Given the description of an element on the screen output the (x, y) to click on. 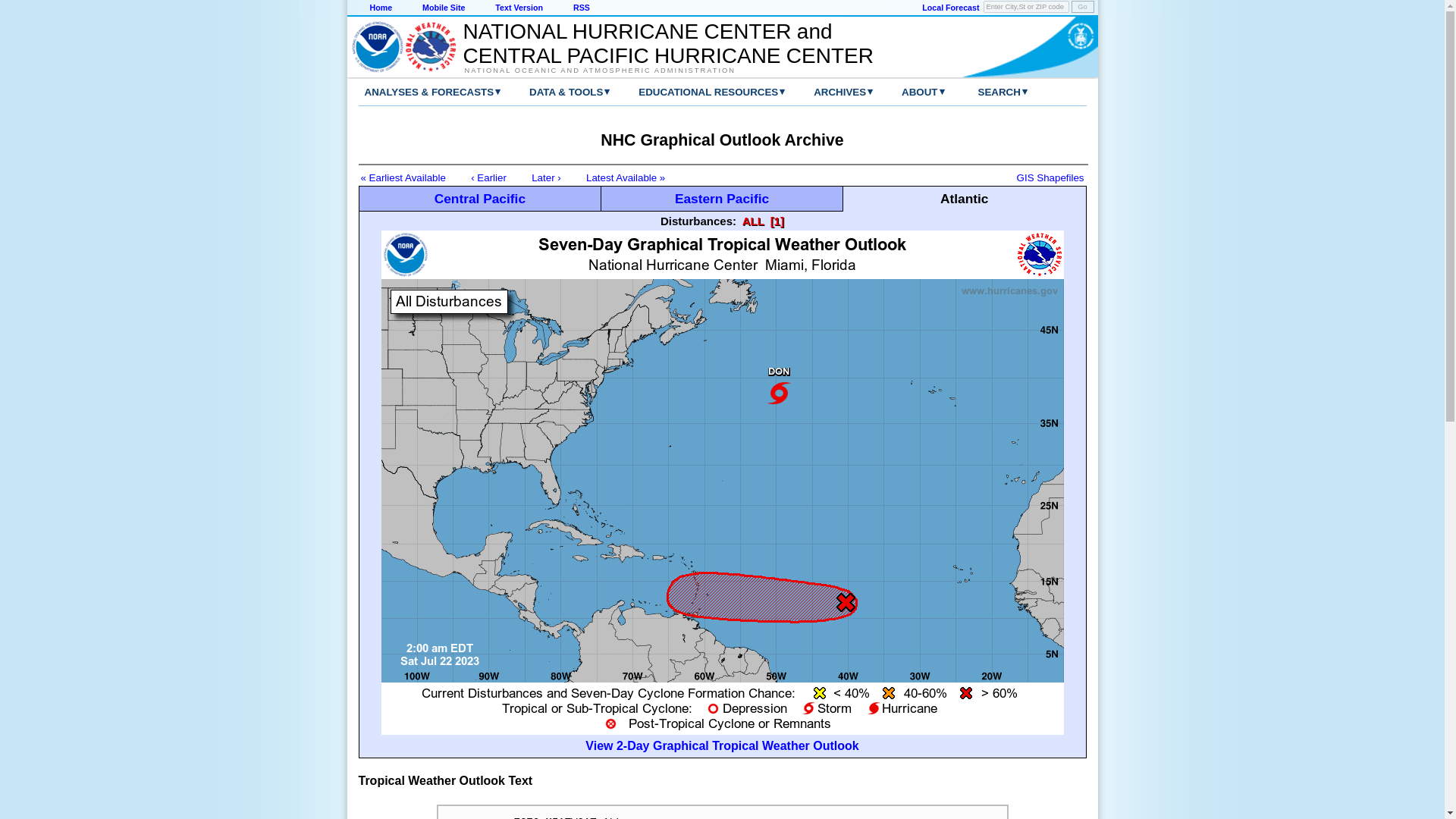
Enter City,St or ZIP code (1026, 6)
Home (381, 7)
Go (1081, 6)
RSS (581, 7)
Mobile Site (443, 7)
NATIONAL OCEANIC AND ATMOSPHERIC ADMINISTRATION (659, 70)
Local Forecast (949, 7)
Text Version (519, 7)
Go (1081, 6)
EDUCATIONAL RESOURCES (696, 91)
